Given the description of an element on the screen output the (x, y) to click on. 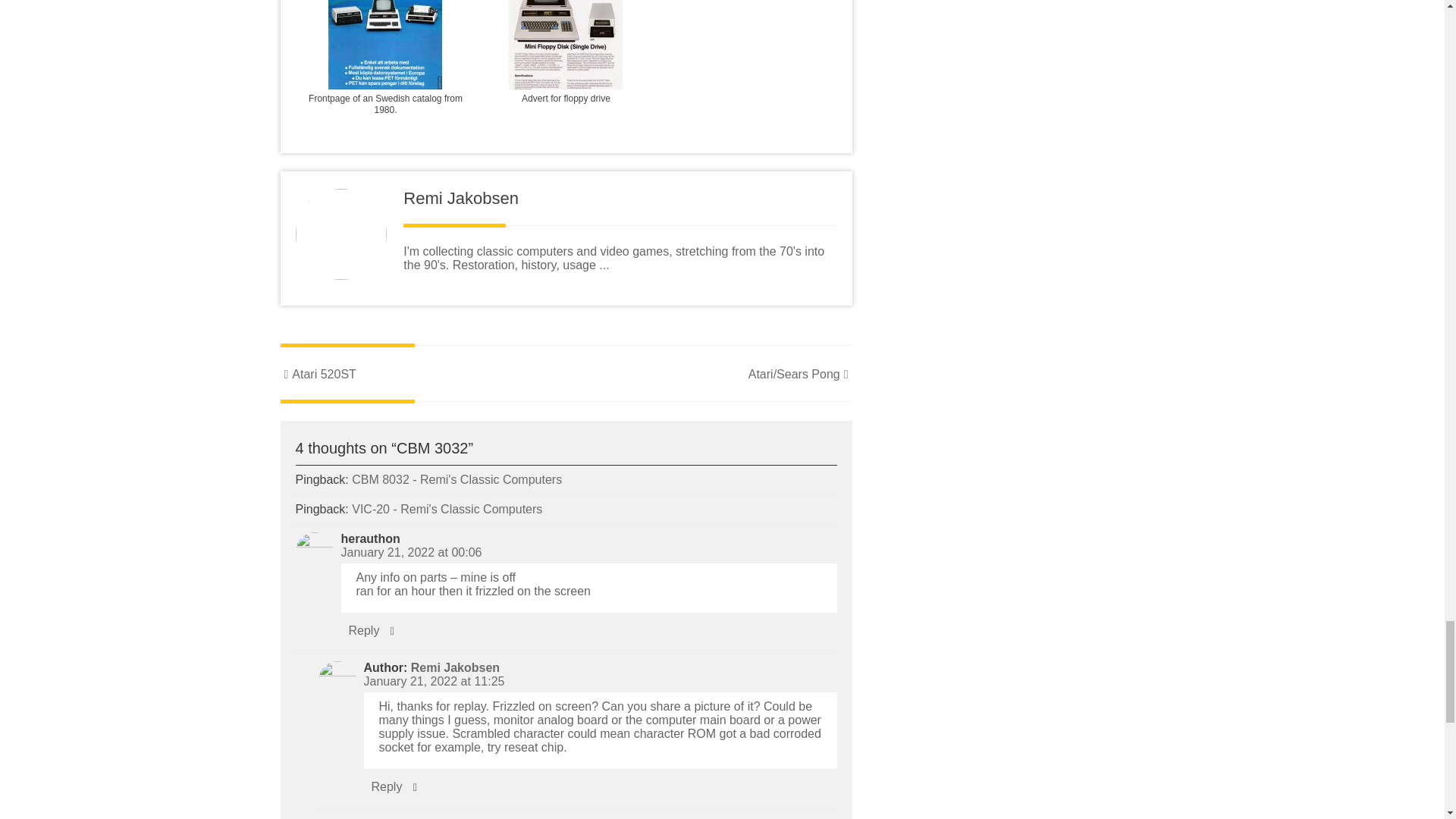
VIC-20 - Remi's Classic Computers (446, 508)
January 21, 2022 at 11:25 (434, 680)
Atari 520ST (318, 373)
CBM 8032 - Remi's Classic Computers (457, 479)
Remi Jakobsen (454, 667)
Reply (364, 630)
Reply (387, 786)
January 21, 2022 at 00:06 (410, 552)
